Given the description of an element on the screen output the (x, y) to click on. 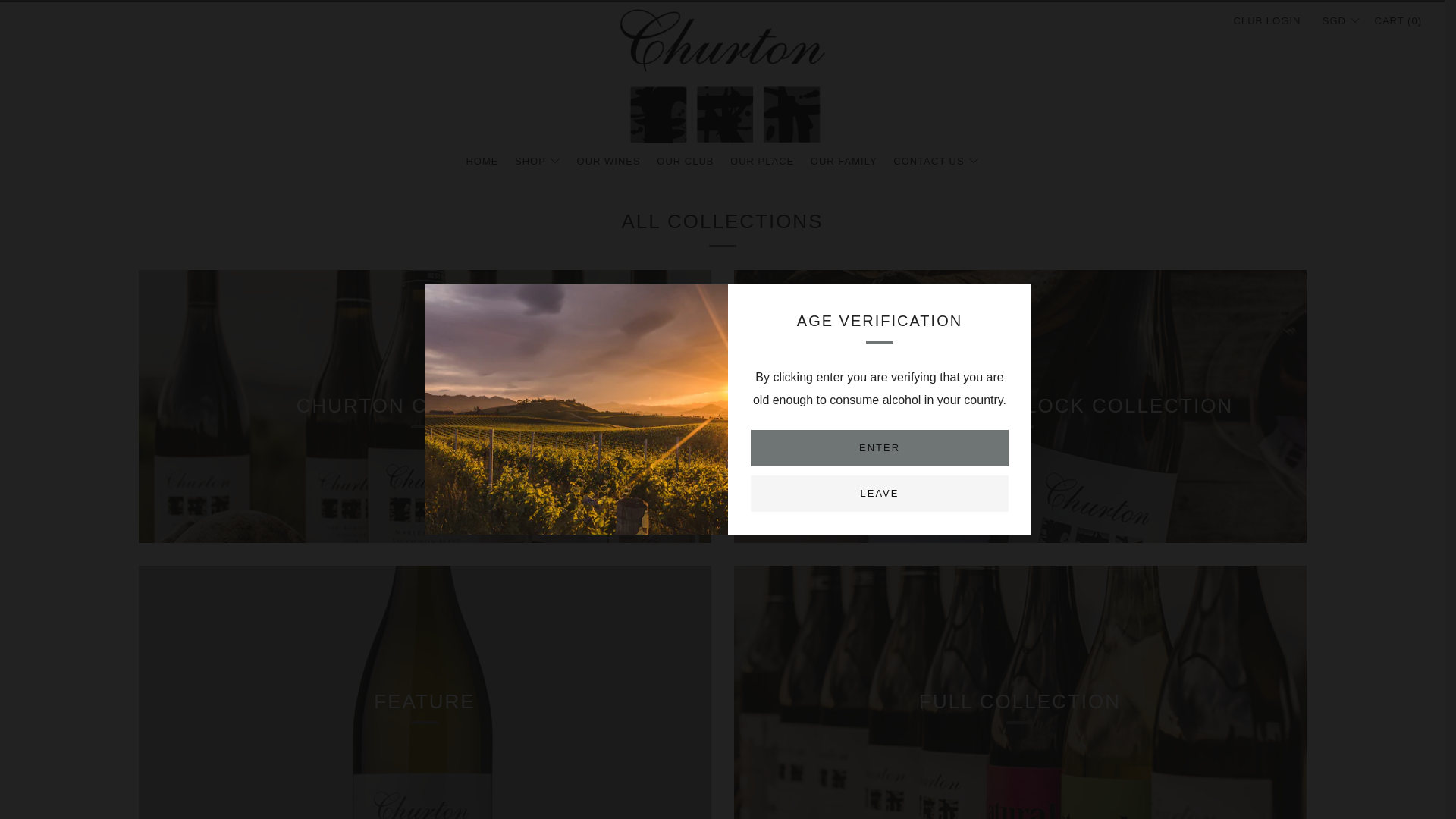
LEAVE (880, 493)
ENTER (880, 447)
